Given the description of an element on the screen output the (x, y) to click on. 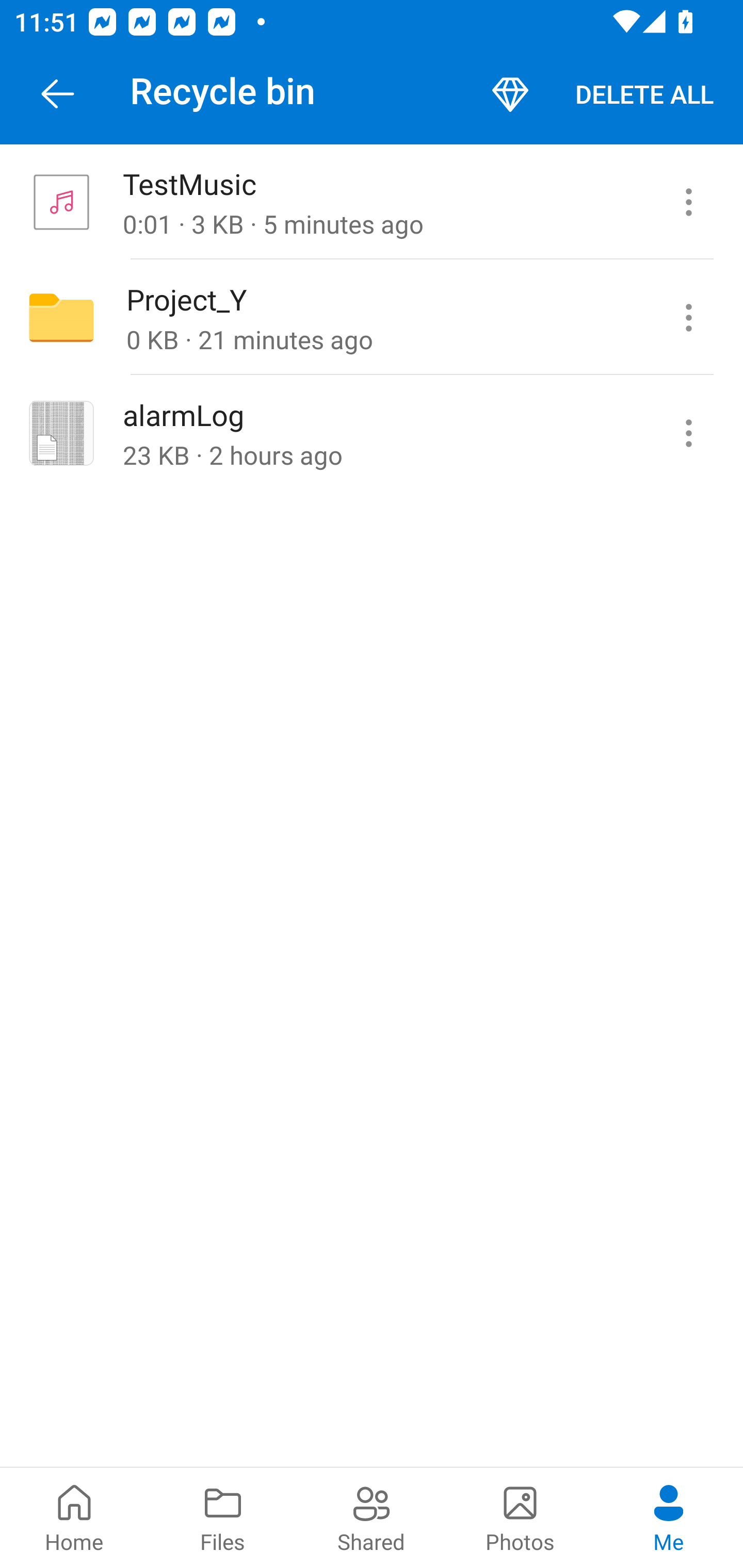
Navigate Up (57, 93)
Premium button (509, 93)
DELETE ALL Delete all button (644, 93)
TestMusic commands (688, 202)
Project_Y commands (688, 317)
alarmLog commands (688, 432)
Home pivot Home (74, 1517)
Files pivot Files (222, 1517)
Shared pivot Shared (371, 1517)
Photos pivot Photos (519, 1517)
